Given the description of an element on the screen output the (x, y) to click on. 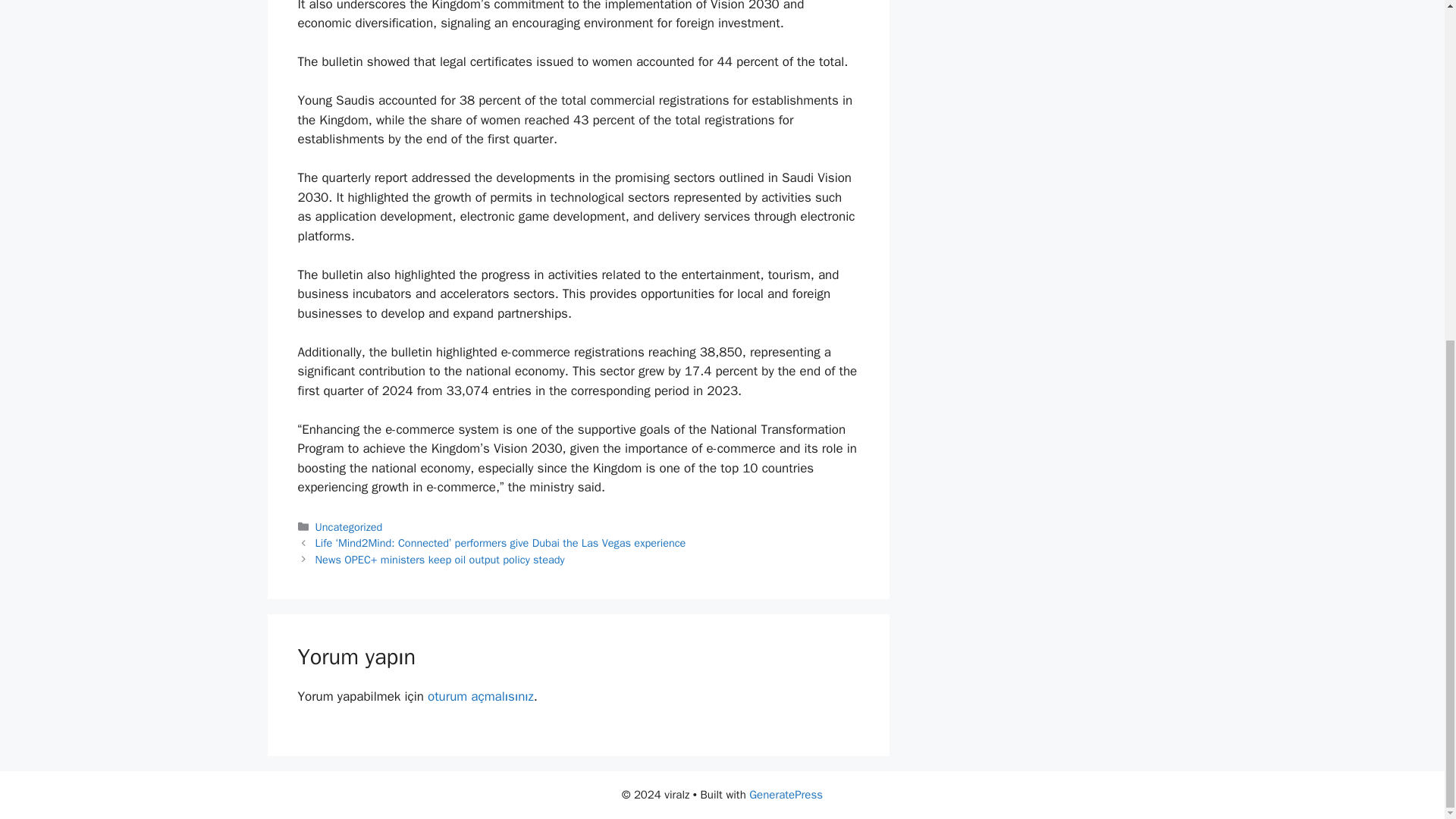
Uncategorized (348, 526)
GeneratePress (785, 794)
